Given the description of an element on the screen output the (x, y) to click on. 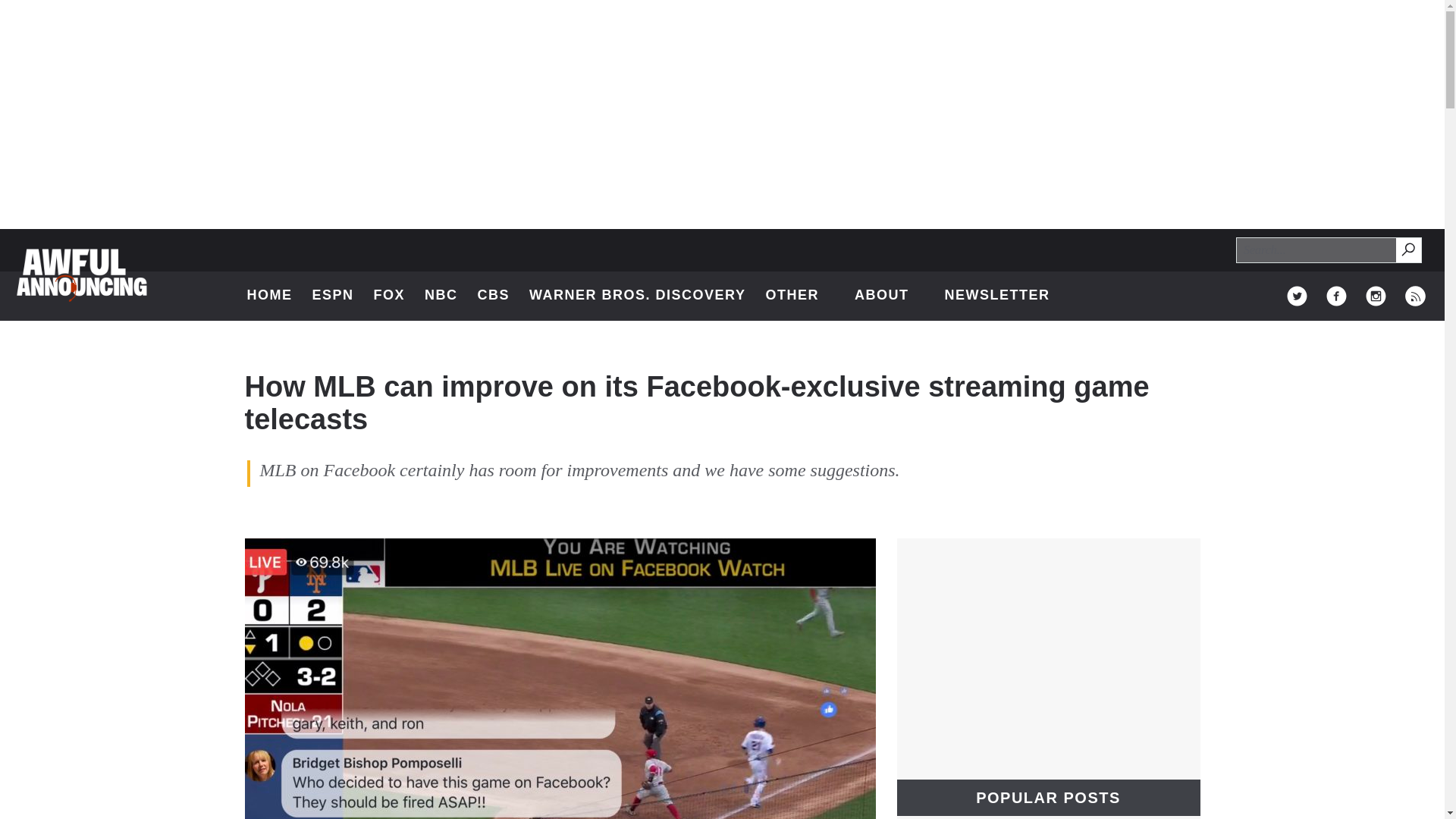
WARNER BROS. DISCOVERY (636, 296)
CBS (493, 296)
NEWSLETTER (996, 296)
Link to RSS (1409, 249)
HOME (1414, 296)
SEARCH (269, 296)
NBC (1407, 249)
OTHER (441, 296)
Link to Twitter (799, 296)
